Given the description of an element on the screen output the (x, y) to click on. 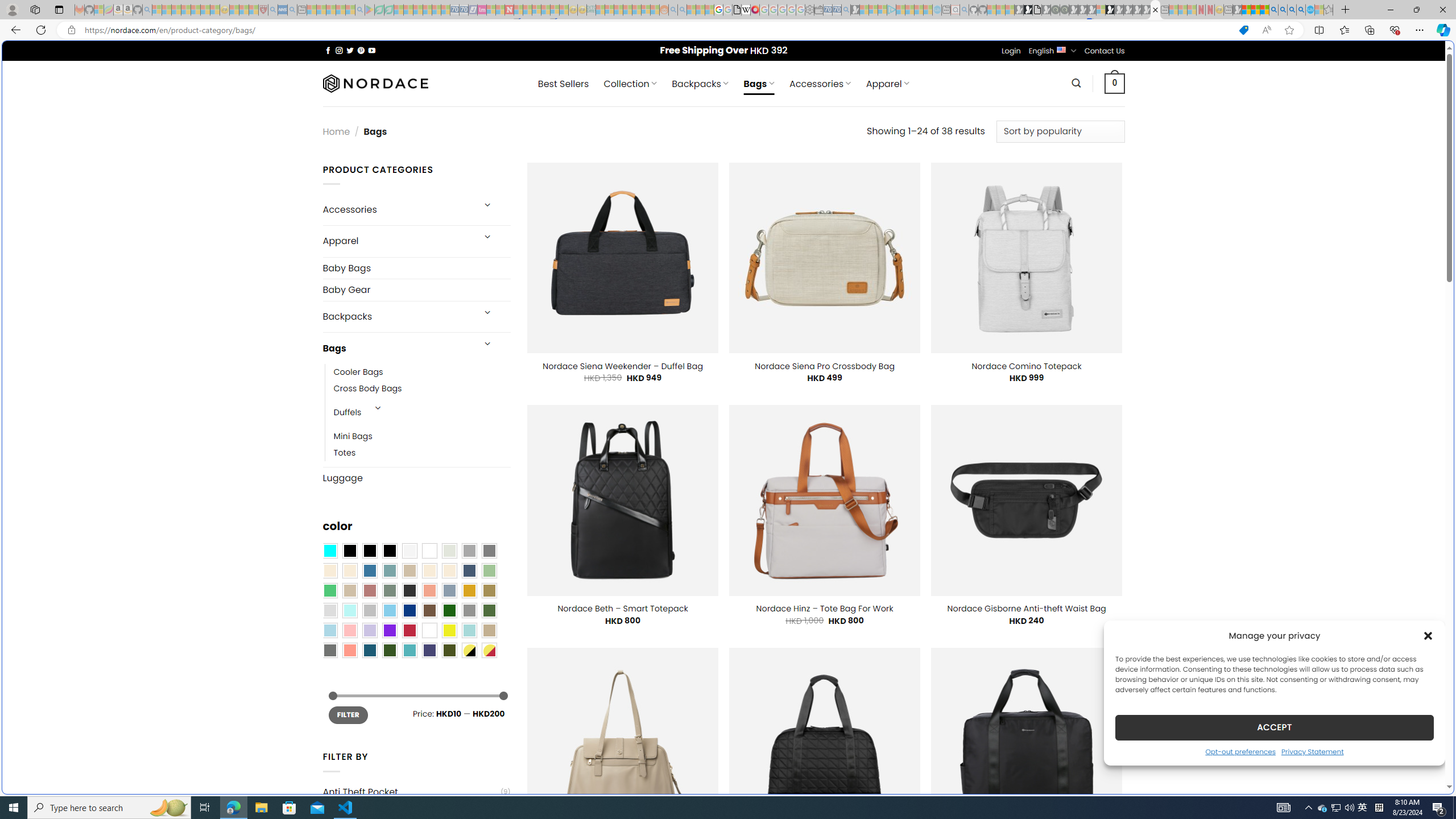
Caramel (429, 570)
Rose (369, 590)
Blue Sage (389, 570)
Light Purple (369, 630)
